Given the description of an element on the screen output the (x, y) to click on. 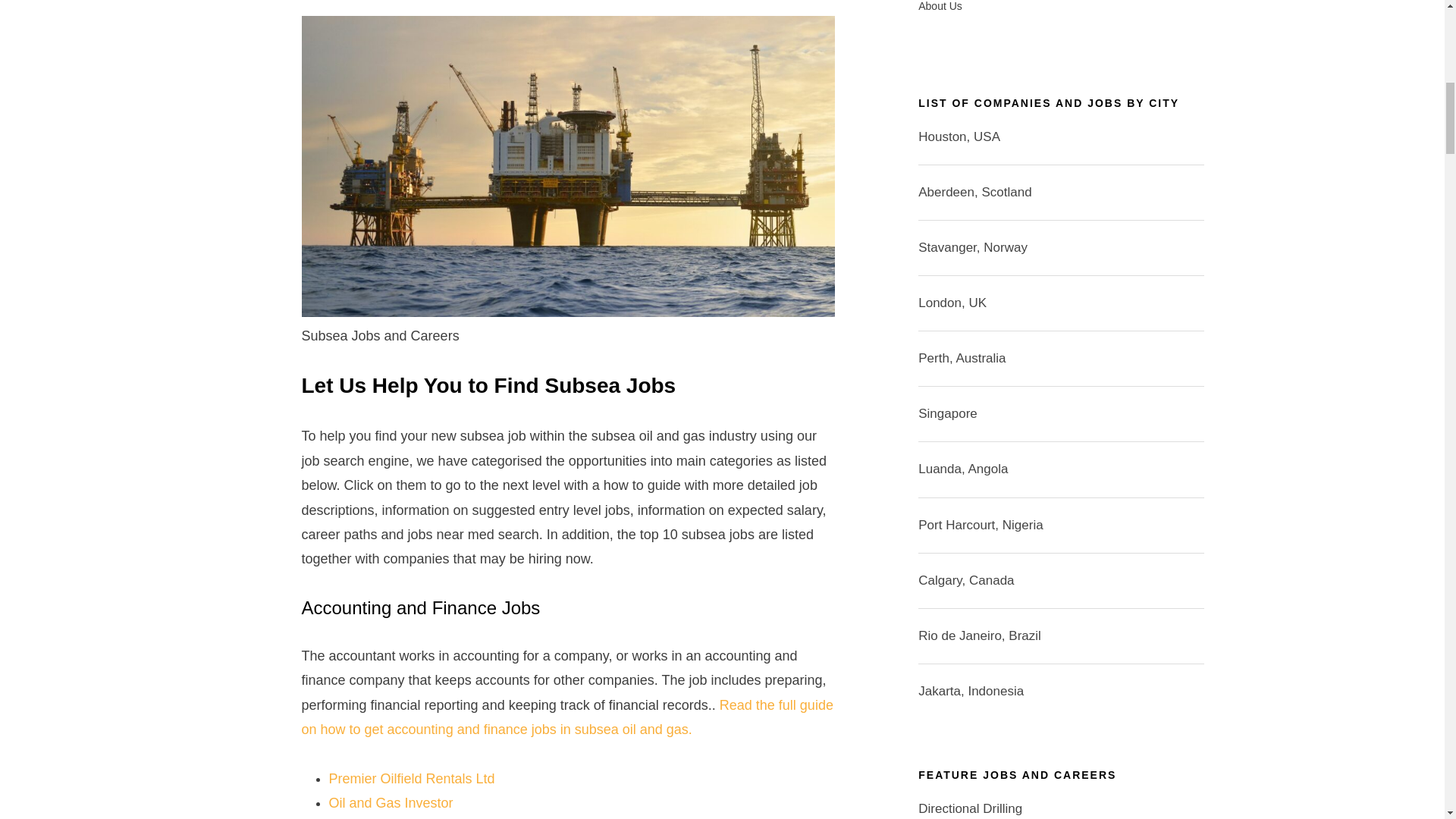
Stavanger, Norway (972, 247)
London, UK (952, 302)
Aberdeen, Scotland (974, 192)
Houston, USA (959, 136)
